Given the description of an element on the screen output the (x, y) to click on. 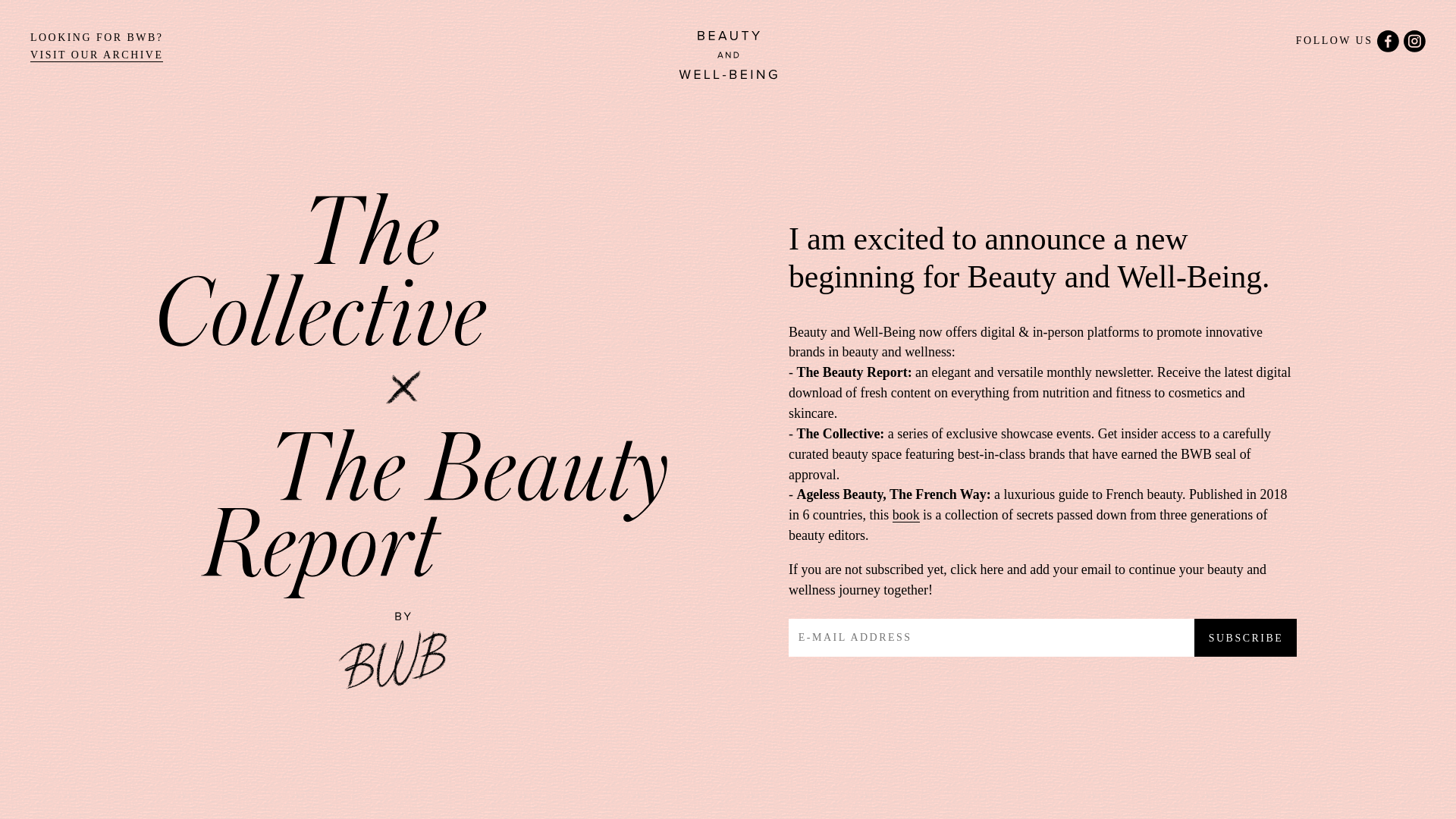
Subscribe (1245, 638)
